Given the description of an element on the screen output the (x, y) to click on. 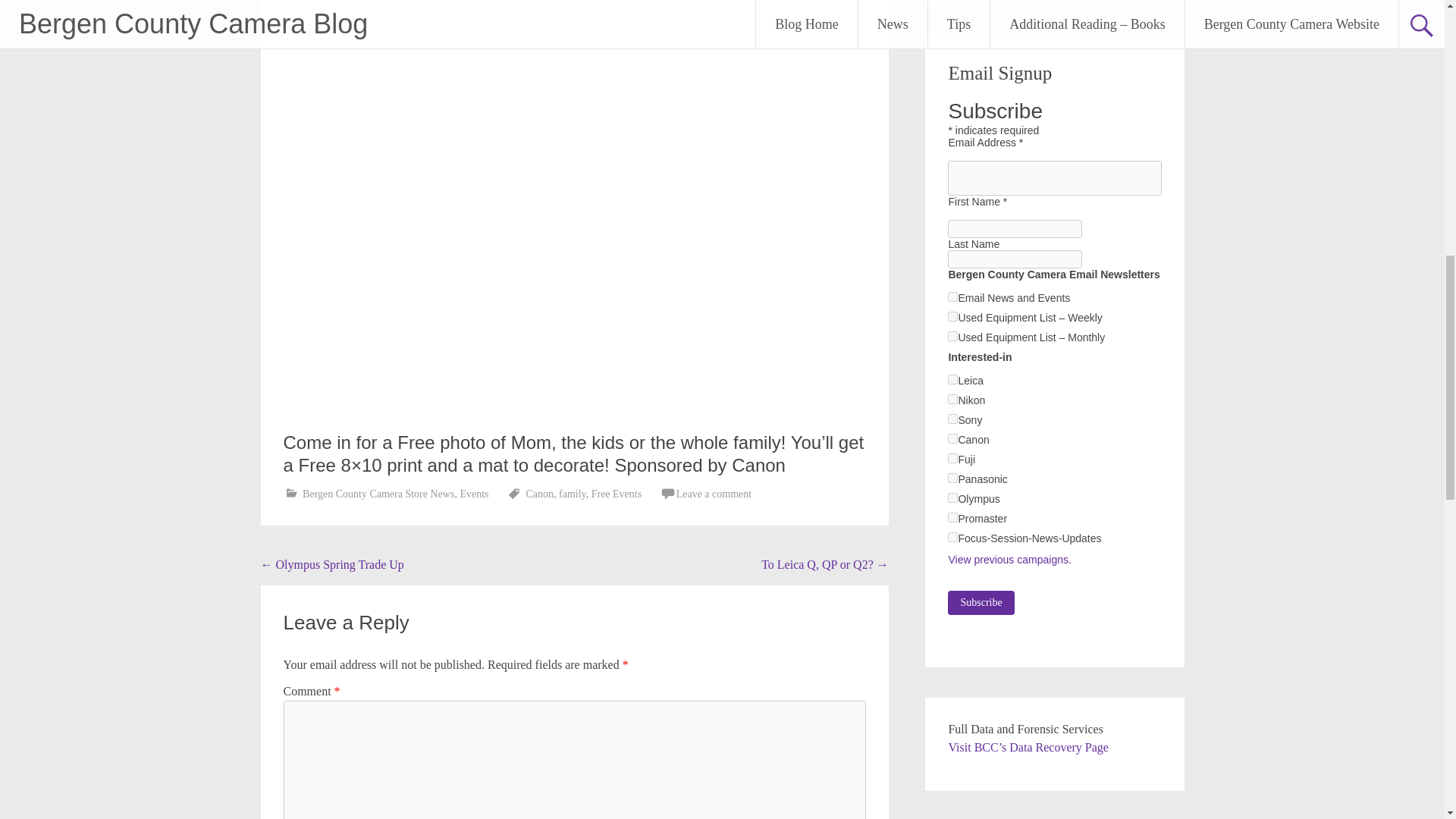
2 (952, 316)
1 (952, 296)
Events (473, 493)
Subscribe (980, 602)
64 (952, 478)
Canon (539, 493)
Leave a comment (714, 493)
256 (952, 497)
8 (952, 398)
View previous campaigns (1008, 559)
